Given the description of an element on the screen output the (x, y) to click on. 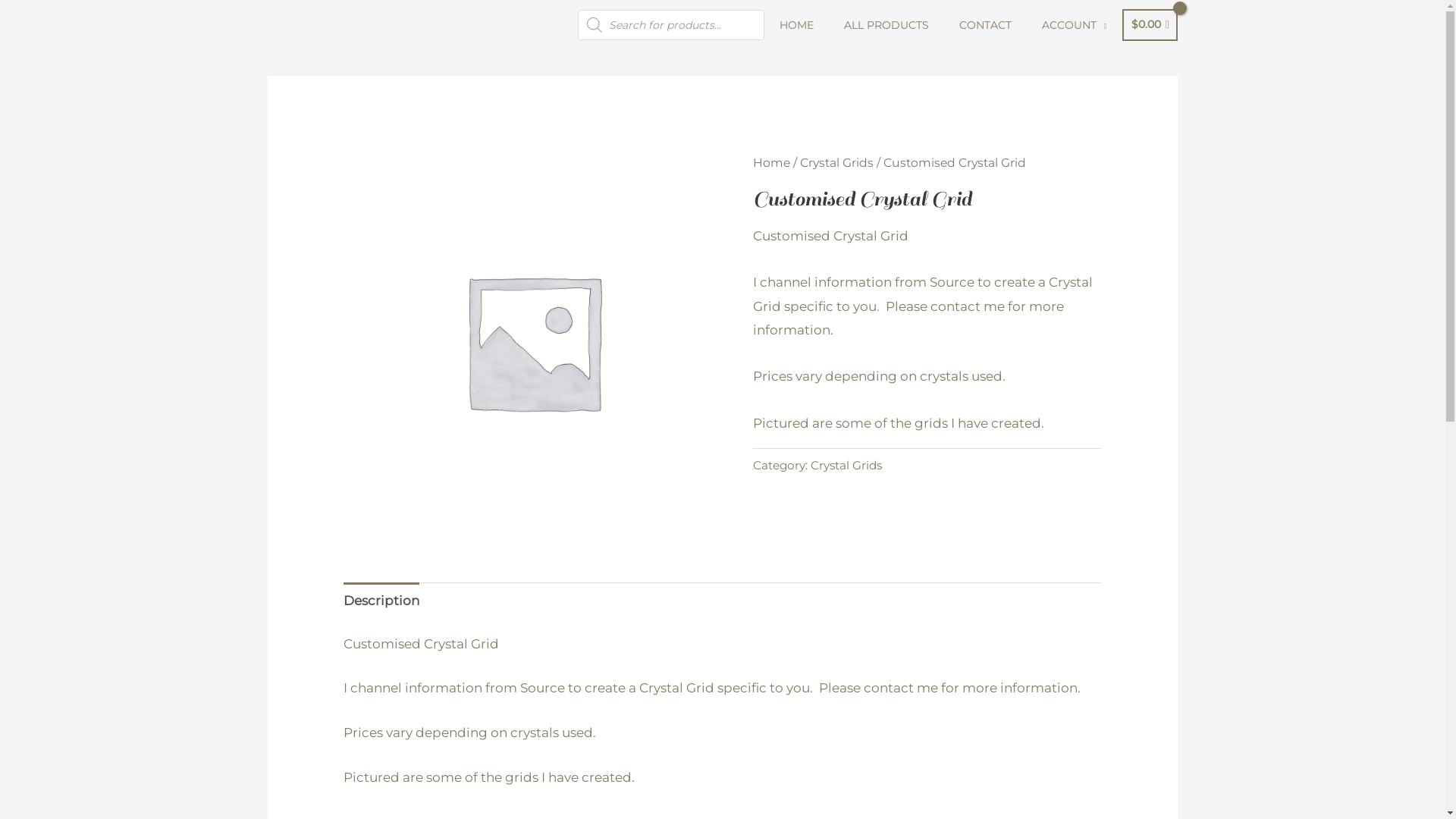
Description Element type: text (380, 600)
HOME Element type: text (796, 24)
Crystal Grids Element type: text (845, 465)
CONTACT Element type: text (985, 24)
ALL PRODUCTS Element type: text (886, 24)
$0.00 Element type: text (1149, 24)
Home Element type: text (770, 162)
ACCOUNT Element type: text (1074, 24)
Crystal Grids Element type: text (835, 162)
